Given the description of an element on the screen output the (x, y) to click on. 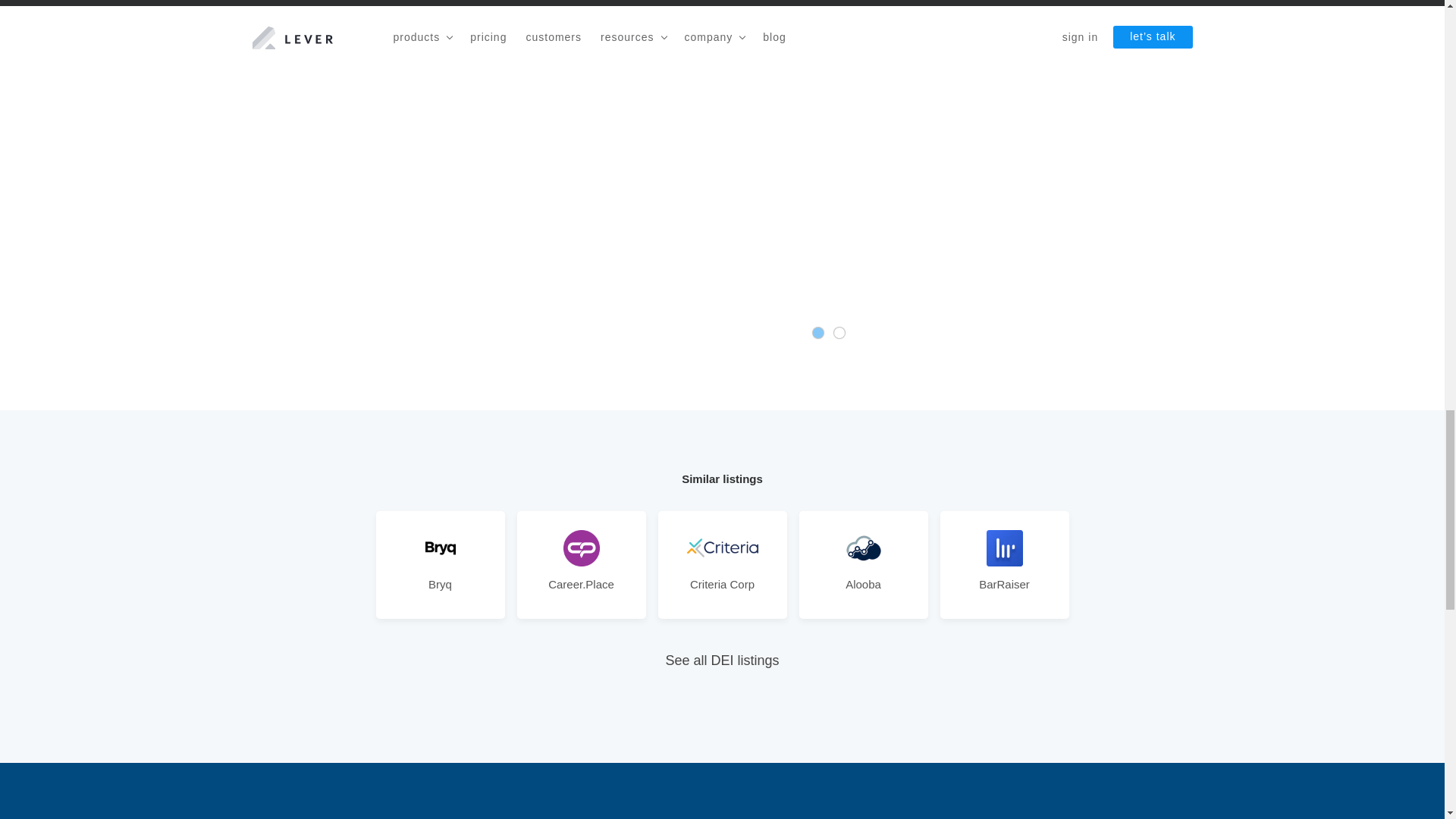
Career.Place (580, 584)
Criteria Corp (722, 584)
Alooba (862, 584)
Bryq (439, 584)
BarRaiser (1003, 584)
